Given the description of an element on the screen output the (x, y) to click on. 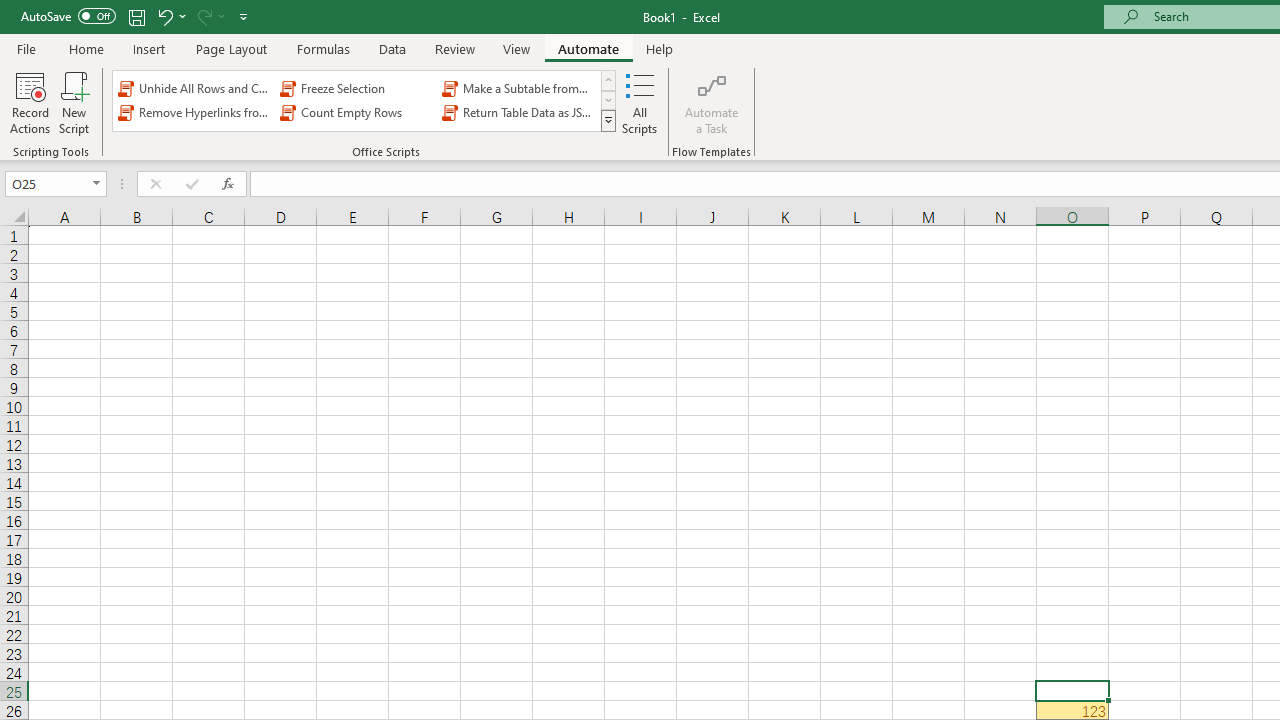
New Script (73, 102)
Freeze Selection (356, 88)
Make a Subtable from a Selection (518, 88)
AutomationID: OfficeScriptsGallery (365, 100)
